Given the description of an element on the screen output the (x, y) to click on. 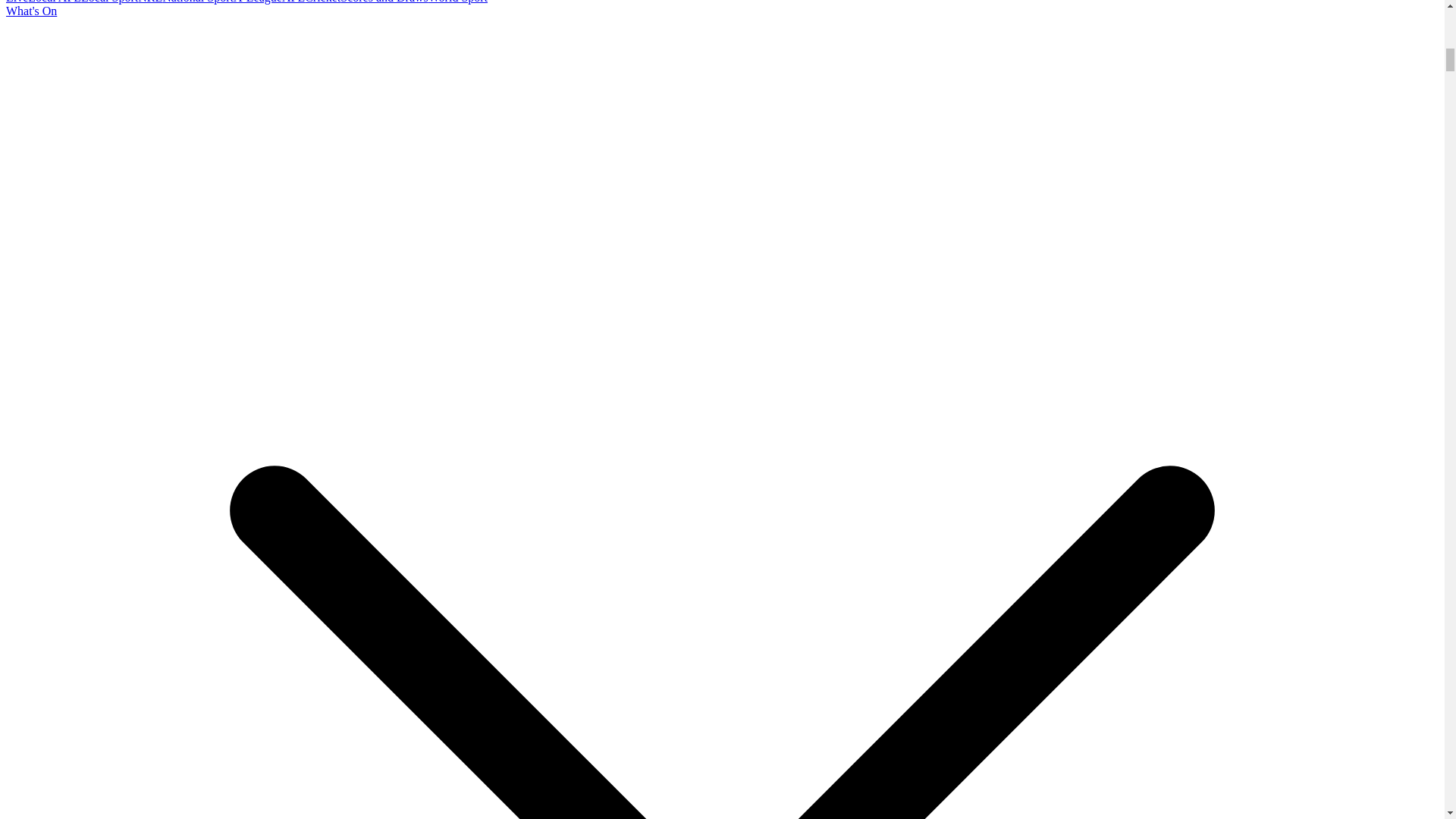
Local AFL (54, 2)
A-League (257, 2)
Live (16, 2)
AFL (293, 2)
Local Sport (109, 2)
NRL (149, 2)
National Sport (196, 2)
